Given the description of an element on the screen output the (x, y) to click on. 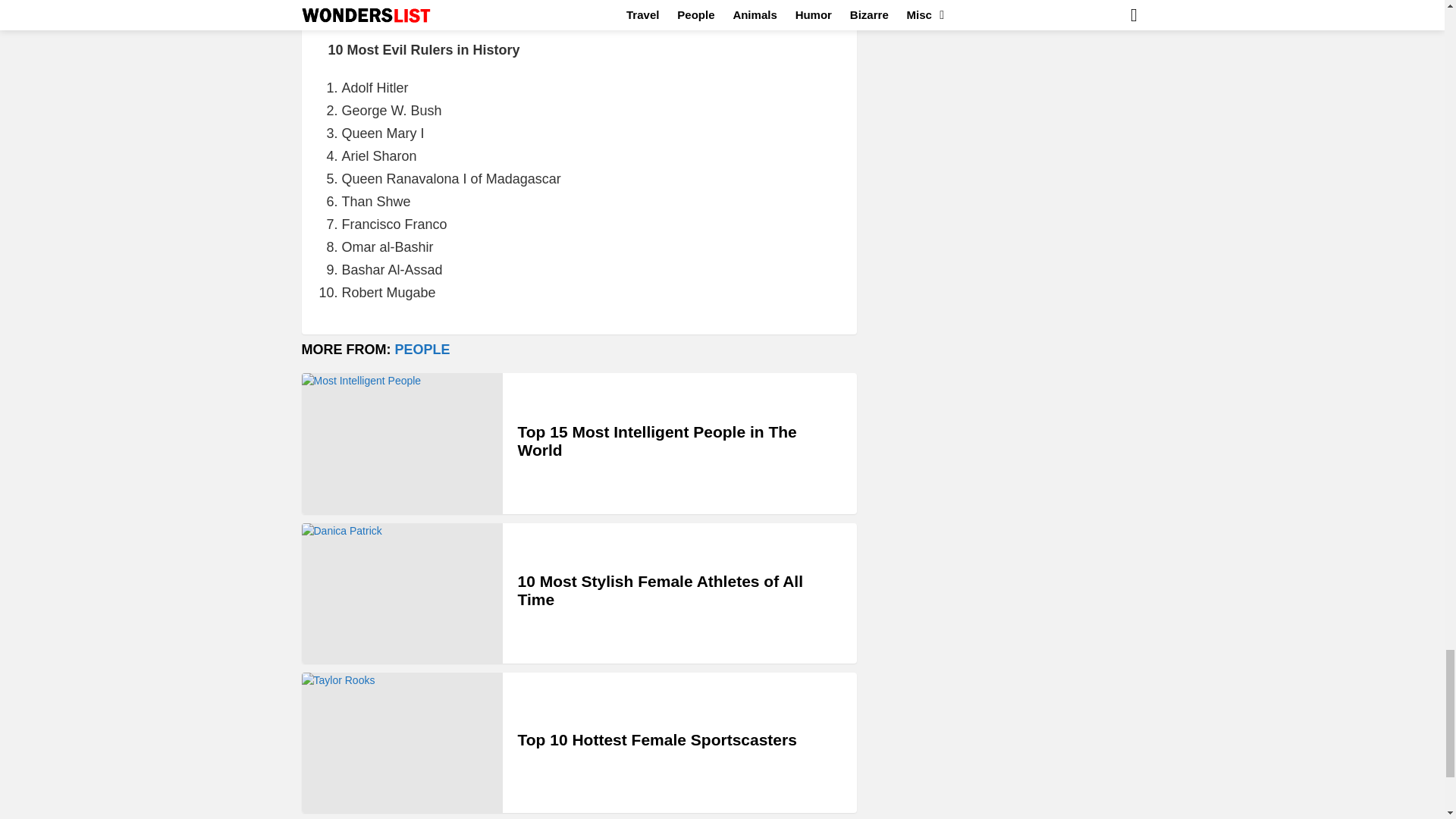
Top 10 Hottest Female Sportscasters (401, 742)
10 Most Stylish Female Athletes of All Time (401, 593)
Top 15 Most Intelligent People in The World (401, 443)
